Given the description of an element on the screen output the (x, y) to click on. 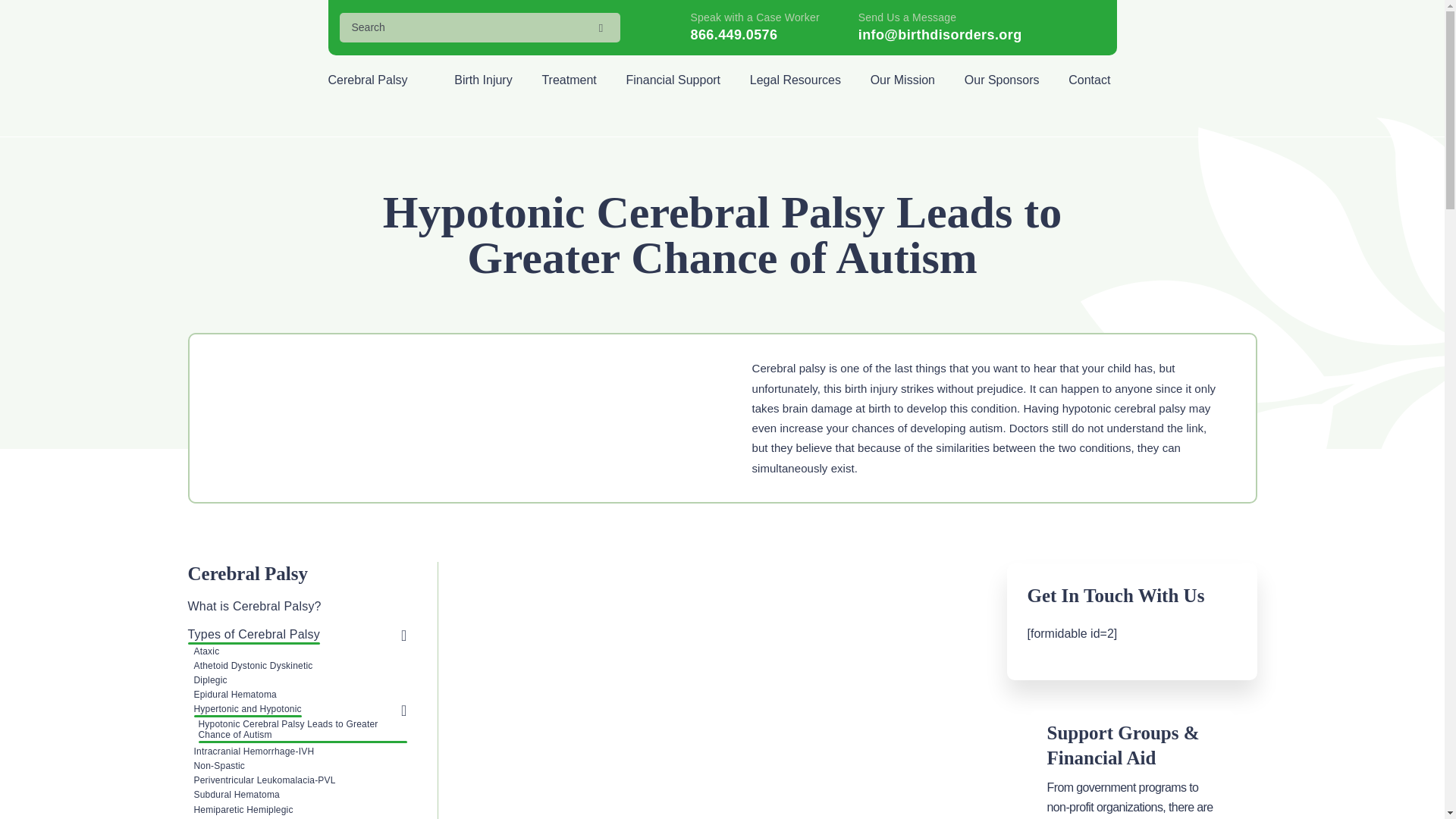
What is Cerebral Palsy? (254, 607)
Types of Cerebral Palsy (253, 635)
Contact (1090, 79)
Hypertonic and Hypotonic (247, 710)
Our Mission (903, 79)
Treatment (570, 79)
Birth Injury (484, 79)
Ataxic (206, 653)
Intracranial Hemorrhage-IVH (253, 752)
Subdural Hematoma (236, 796)
